Given the description of an element on the screen output the (x, y) to click on. 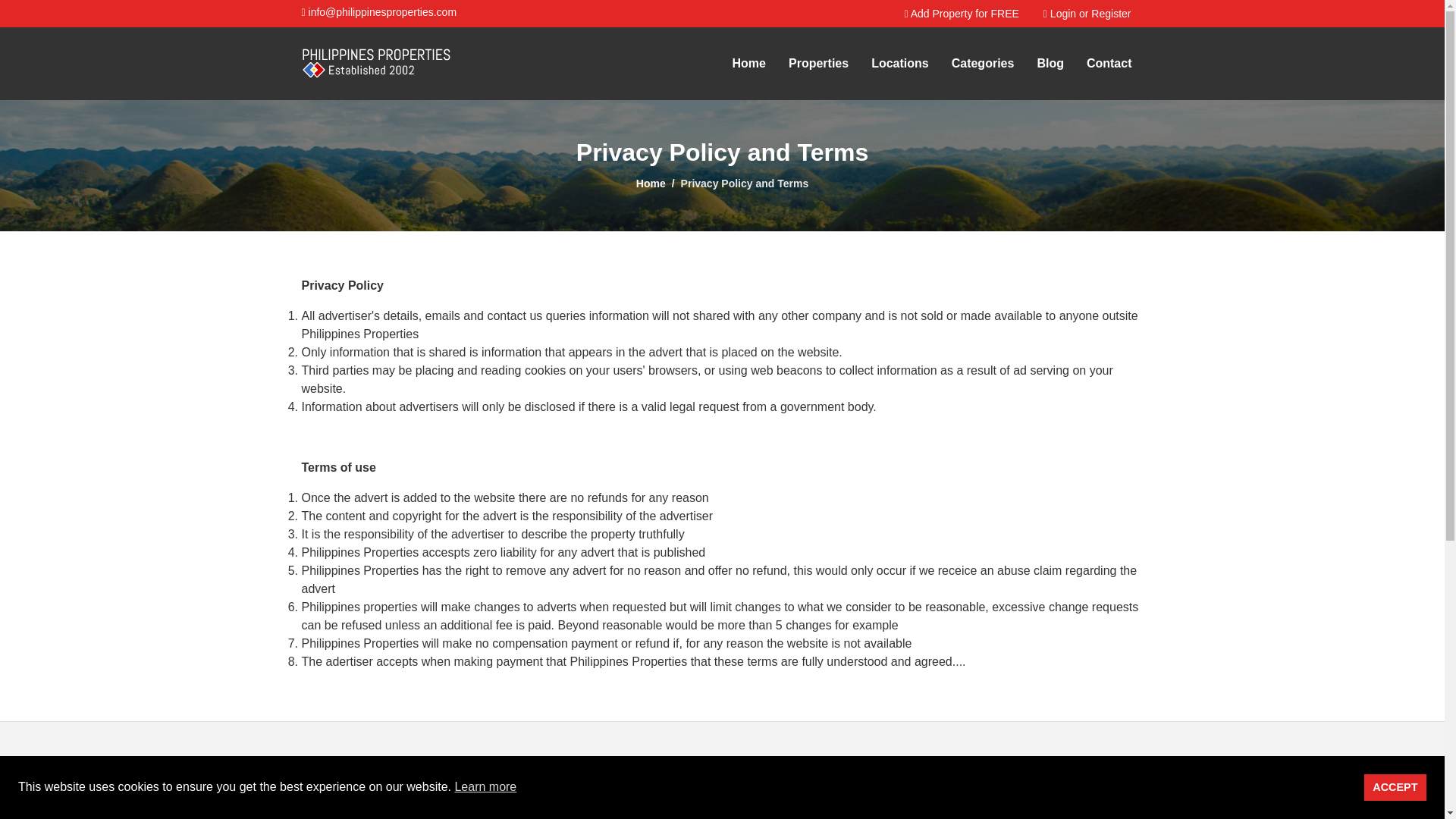
Blog (1050, 63)
Locations (899, 63)
Advertisement (721, 770)
Home (748, 63)
Categories (983, 63)
Add Property for FREE (960, 13)
Properties (818, 63)
ACCEPT (1395, 786)
Contact (1109, 63)
Learn more (485, 787)
Login or Register (1086, 13)
Home (650, 183)
